Given the description of an element on the screen output the (x, y) to click on. 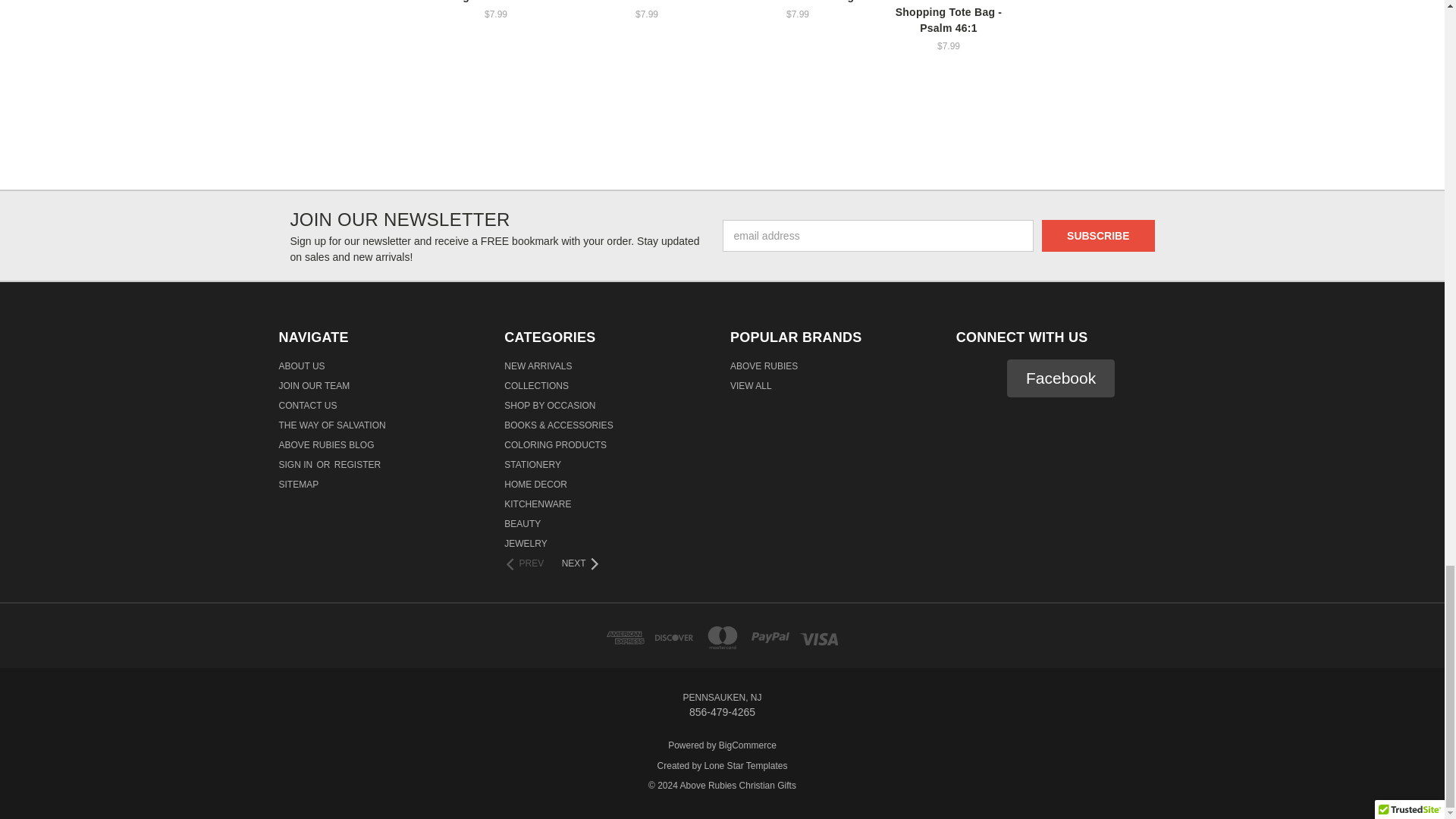
Subscribe (1098, 235)
